Given the description of an element on the screen output the (x, y) to click on. 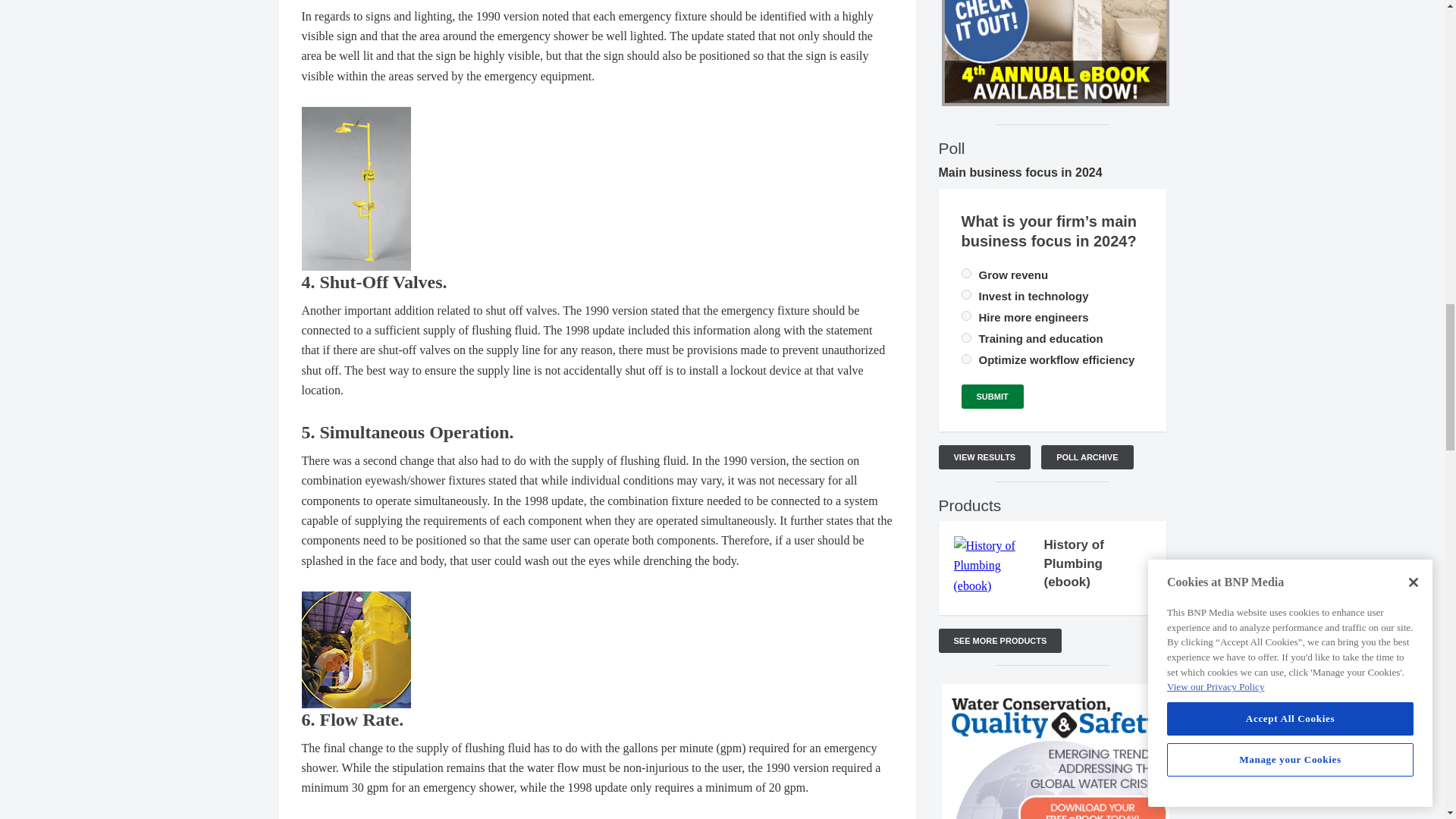
325 (965, 294)
326 (965, 316)
324 (965, 273)
Submit (991, 396)
328 (965, 337)
327 (965, 358)
